Given the description of an element on the screen output the (x, y) to click on. 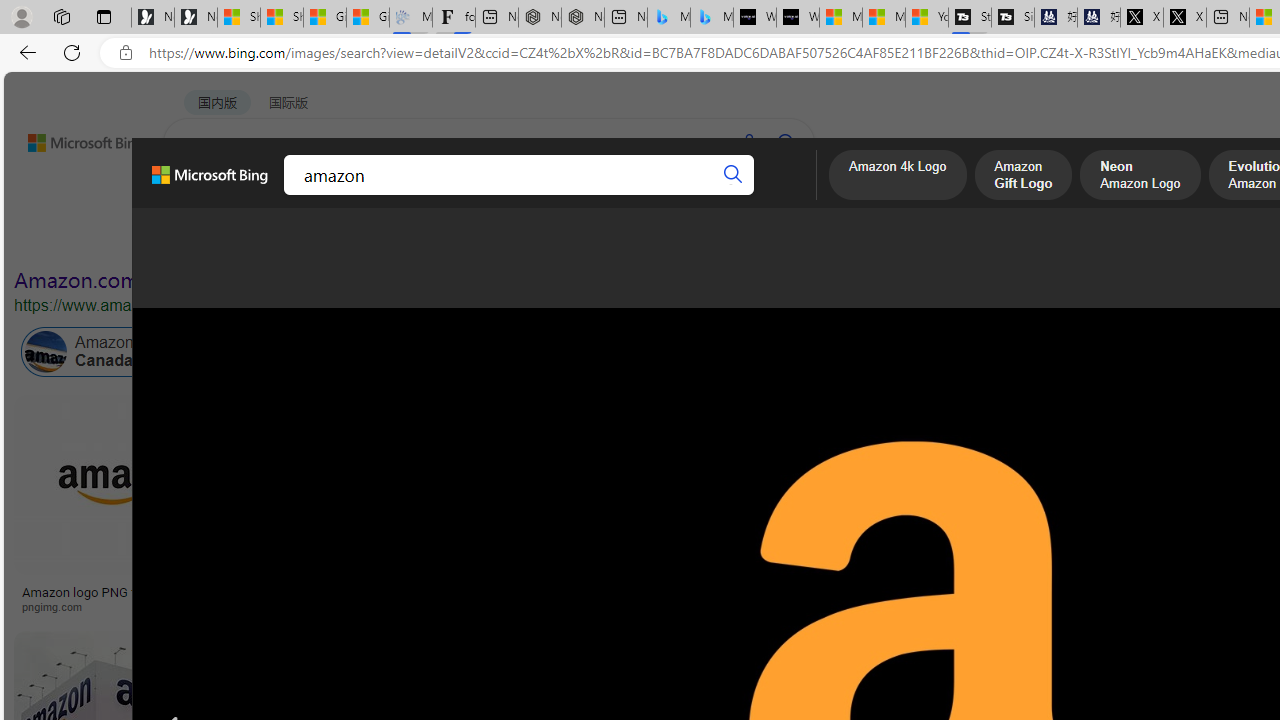
Date (591, 237)
Amazon Animals (706, 351)
Amazon Cloud (564, 351)
Search button (732, 174)
mytotalretail.com (298, 605)
Amazon Prime Online (241, 351)
License (664, 237)
Amazon Kids (464, 351)
DICT (630, 195)
Amazon 4k Logo (897, 177)
